Given the description of an element on the screen output the (x, y) to click on. 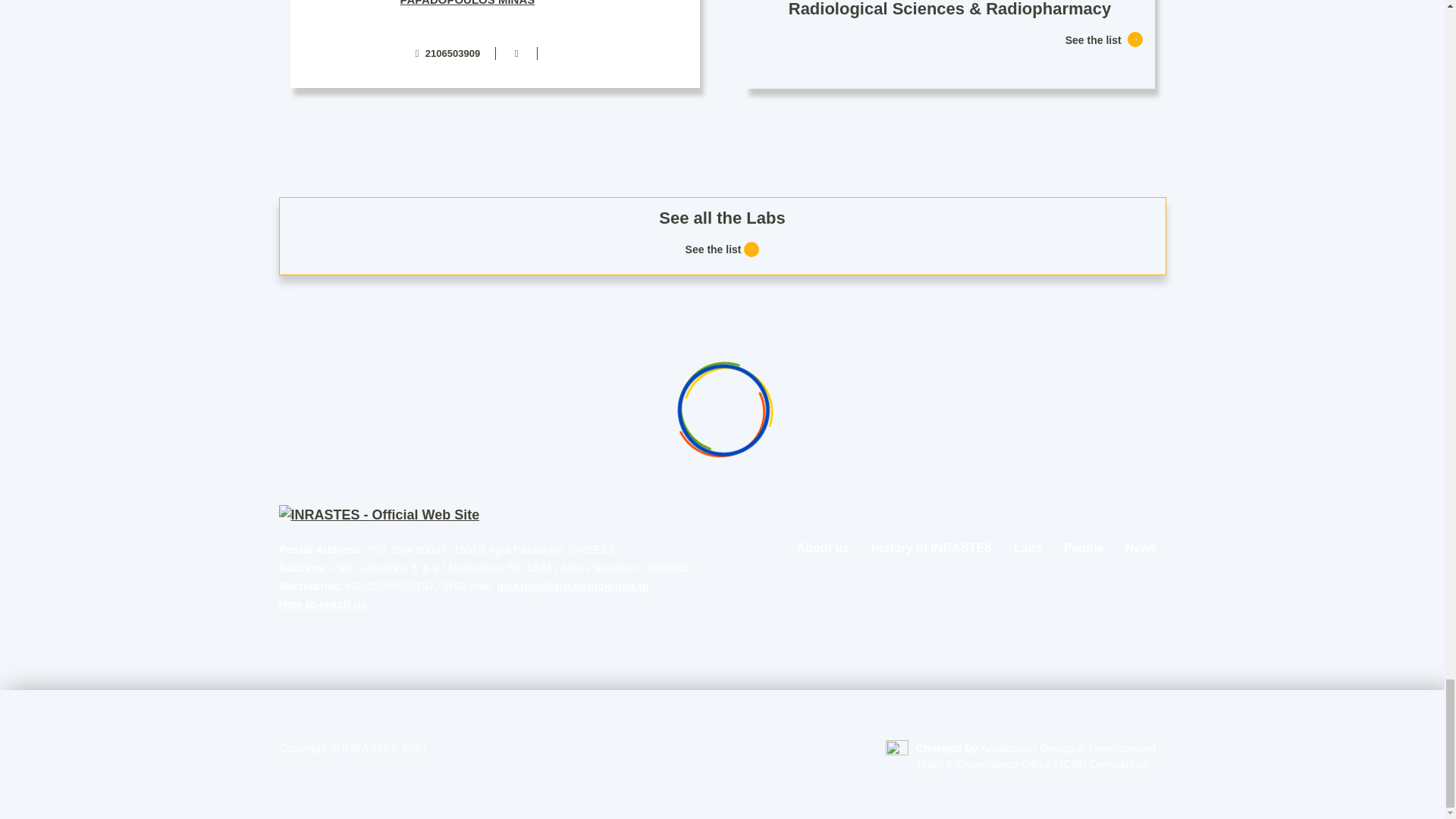
PAPADOPOULOS MINAS (467, 2)
See the list (1102, 39)
See the list (722, 249)
How to reach us (322, 603)
2106503909 (447, 52)
